Given the description of an element on the screen output the (x, y) to click on. 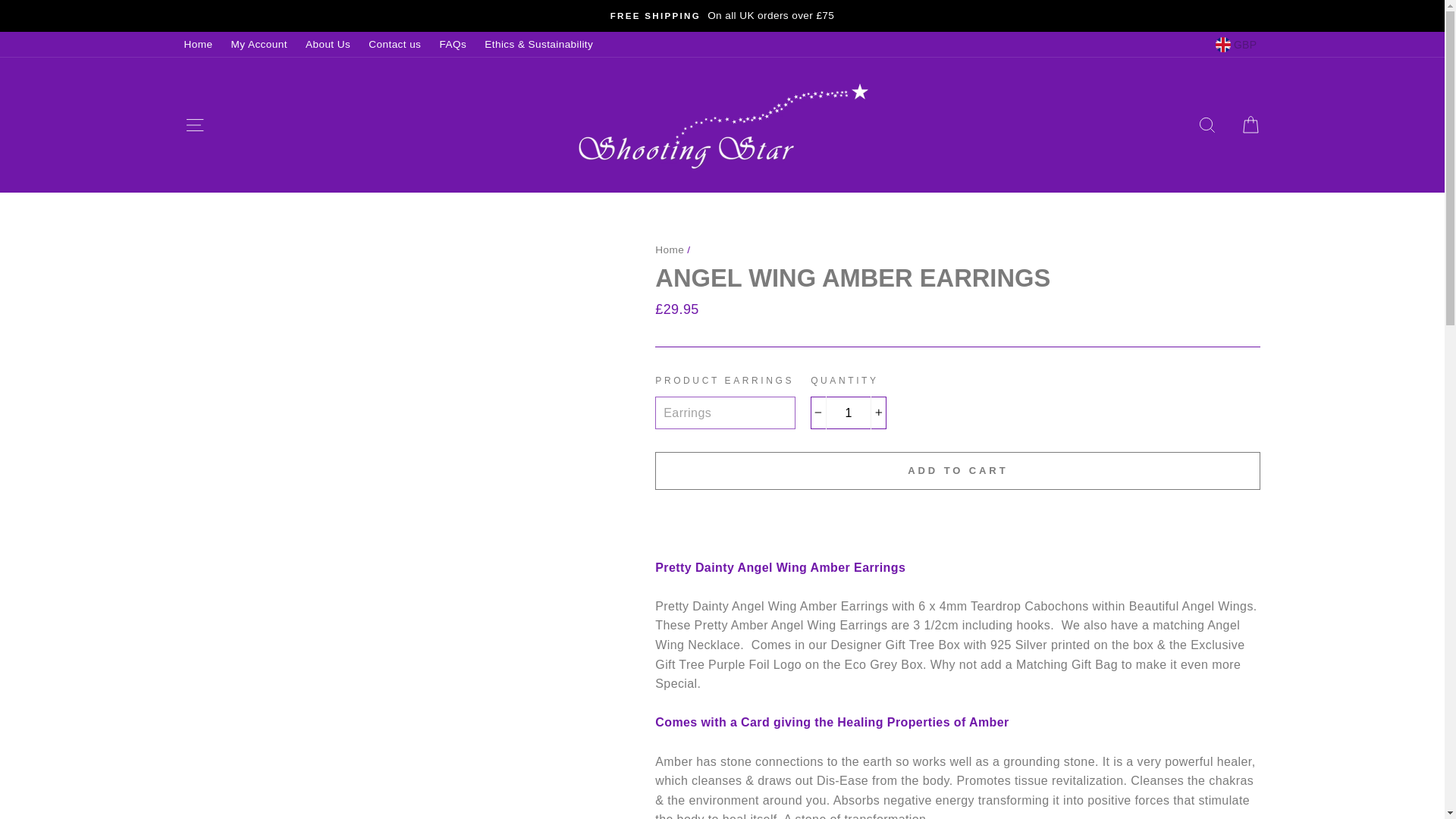
1 (848, 412)
Back to the frontpage (669, 249)
